Given the description of an element on the screen output the (x, y) to click on. 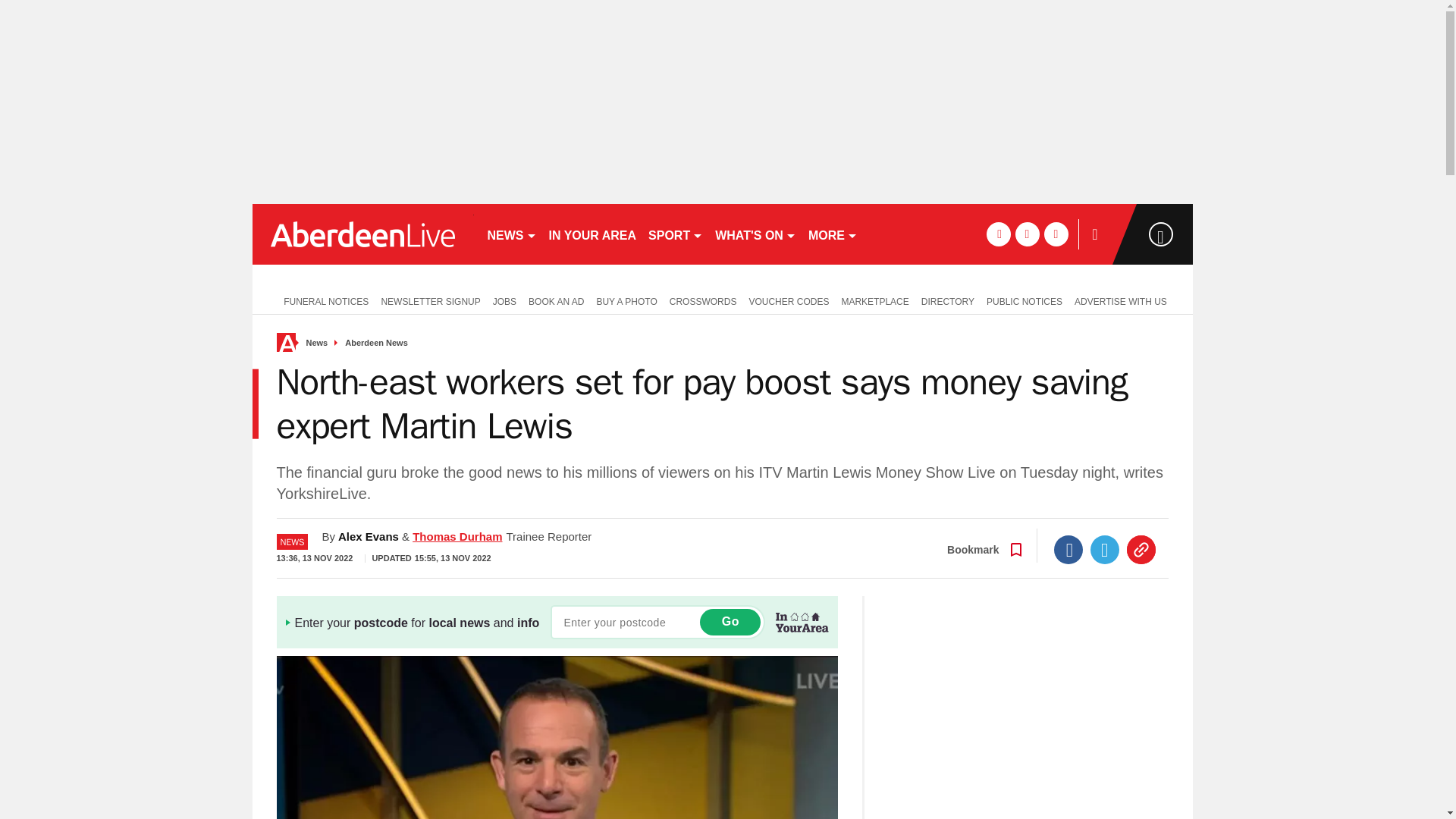
CROSSWORDS (702, 300)
BUY A PHOTO (625, 300)
NEWSLETTER SIGNUP (430, 300)
BOOK AN AD (555, 300)
Twitter (1104, 549)
NEWS (510, 233)
WHAT'S ON (755, 233)
MORE (832, 233)
IN YOUR AREA (593, 233)
aberdeenlive (362, 233)
Go (730, 622)
facebook (997, 233)
FUNERAL NOTICES (322, 300)
instagram (1055, 233)
Facebook (1068, 549)
